Given the description of an element on the screen output the (x, y) to click on. 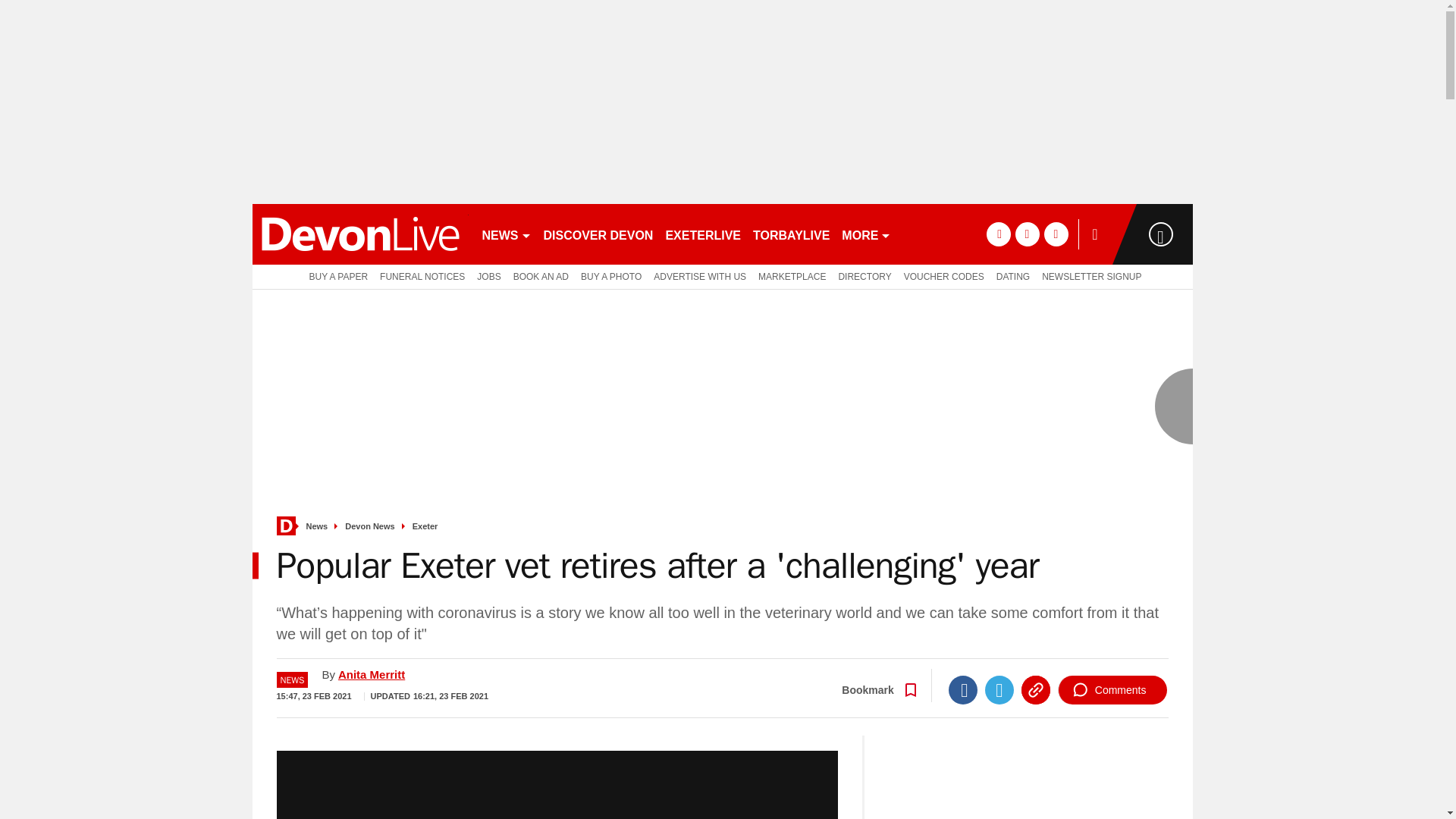
Twitter (999, 689)
MORE (865, 233)
twitter (1026, 233)
Facebook (962, 689)
facebook (997, 233)
NEWS (506, 233)
EXETERLIVE (702, 233)
devonlive (359, 233)
Comments (1112, 689)
DISCOVER DEVON (598, 233)
